Given the description of an element on the screen output the (x, y) to click on. 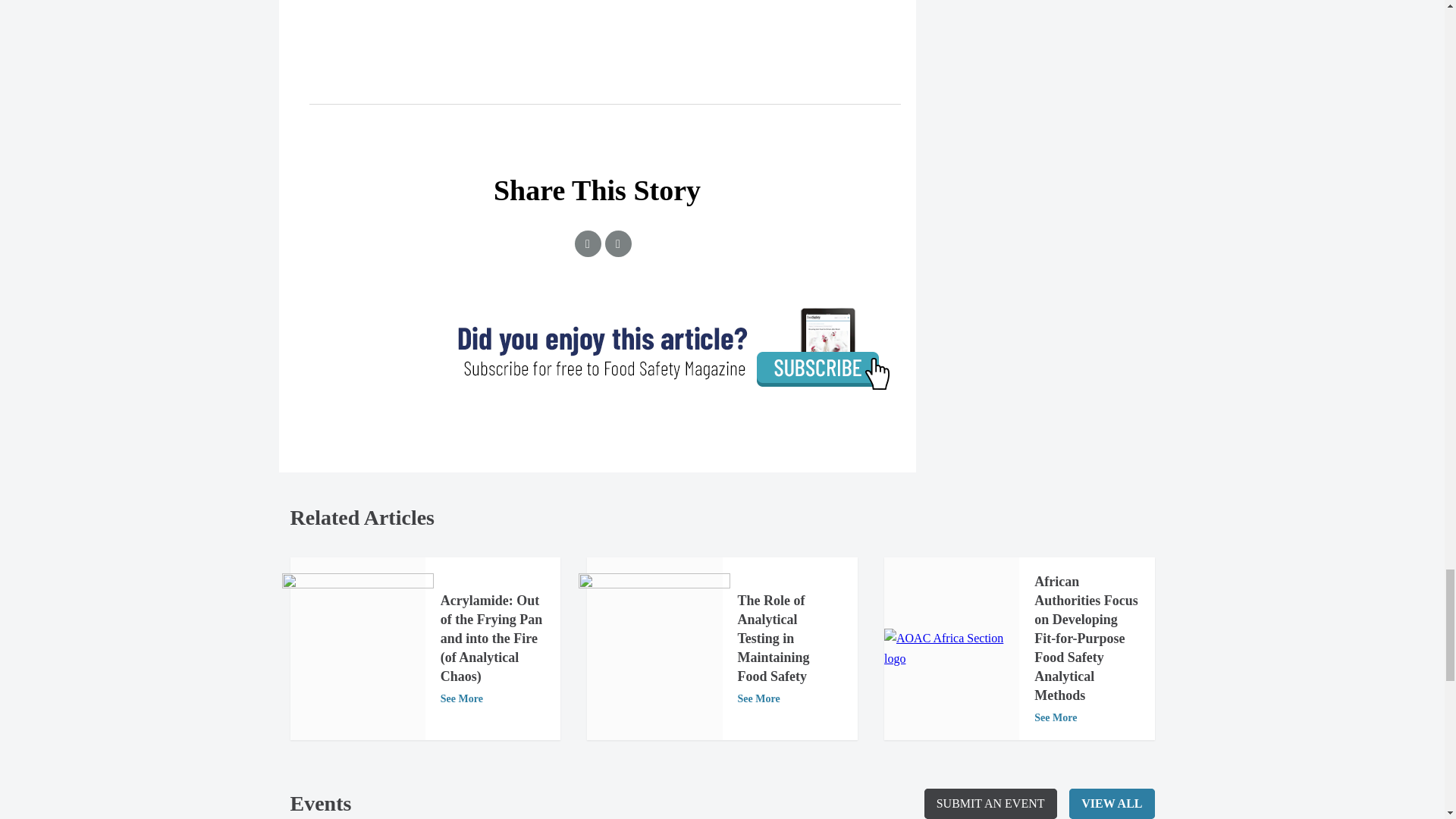
AOAC Africa.png (951, 648)
4503ChemicalCompound.jpg (357, 648)
4514FoodTestingLab.jpg (654, 648)
